Given the description of an element on the screen output the (x, y) to click on. 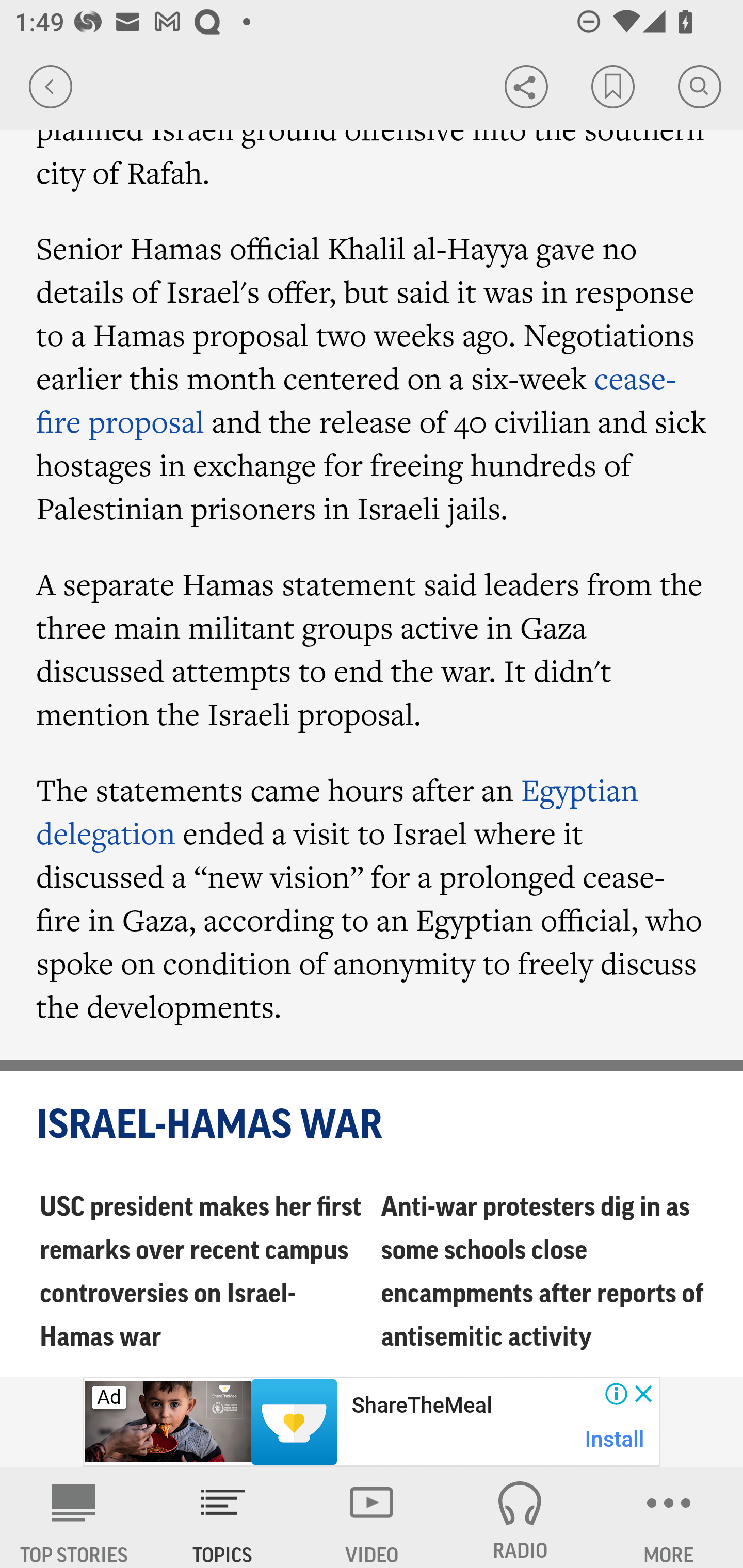
cease-fire proposal (356, 400)
Egyptian delegation (337, 811)
ISRAEL-HAMAS WAR (372, 1125)
ShareTheMeal (420, 1405)
Install (614, 1438)
AP News TOP STORIES (74, 1517)
TOPICS (222, 1517)
VIDEO (371, 1517)
RADIO (519, 1517)
MORE (668, 1517)
